Given the description of an element on the screen output the (x, y) to click on. 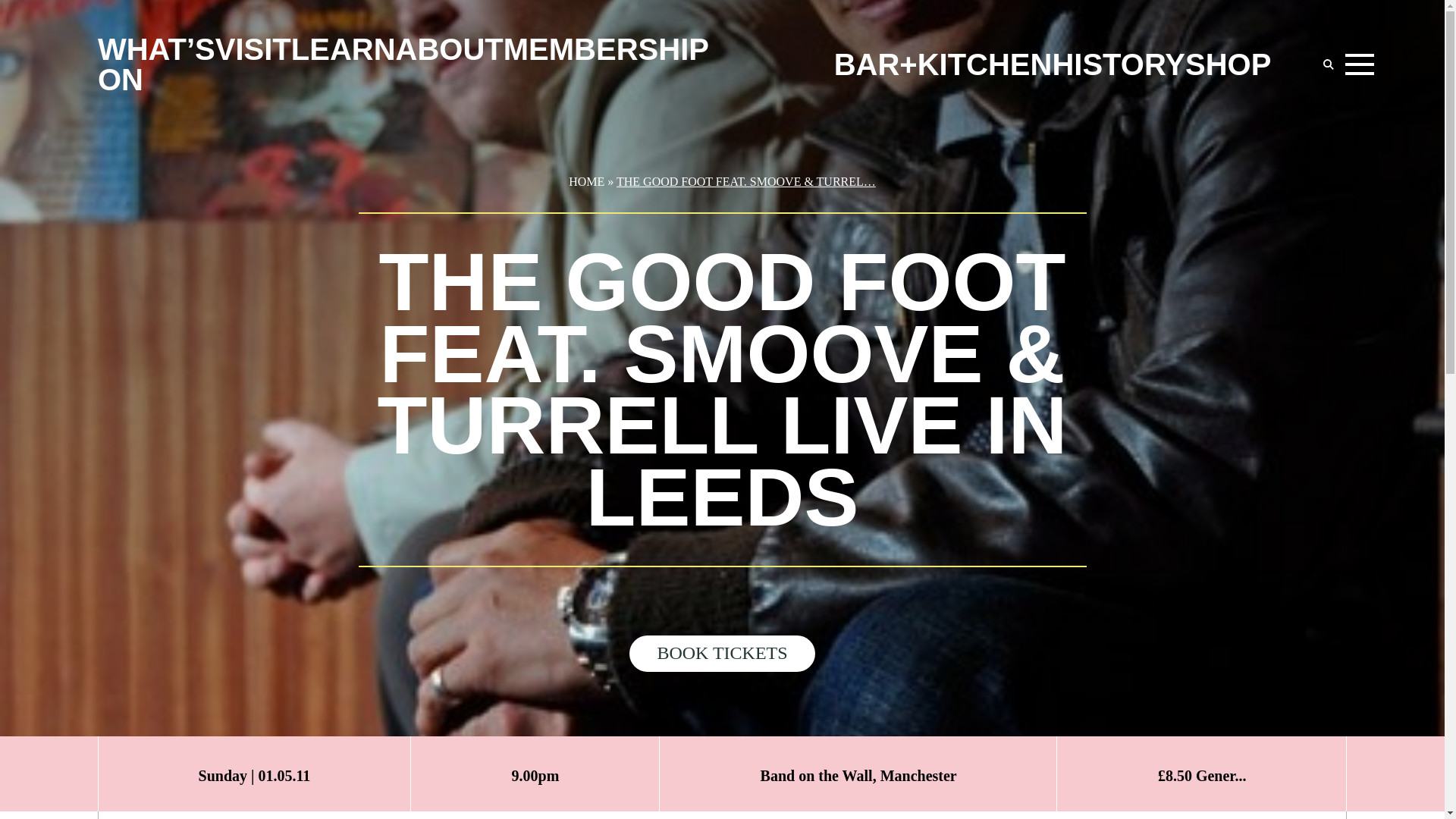
HISTORY (1118, 64)
MEMBERSHIP (606, 49)
ABOUT (449, 49)
LEARN (343, 49)
VISIT (253, 49)
SHOP (1228, 64)
